Given the description of an element on the screen output the (x, y) to click on. 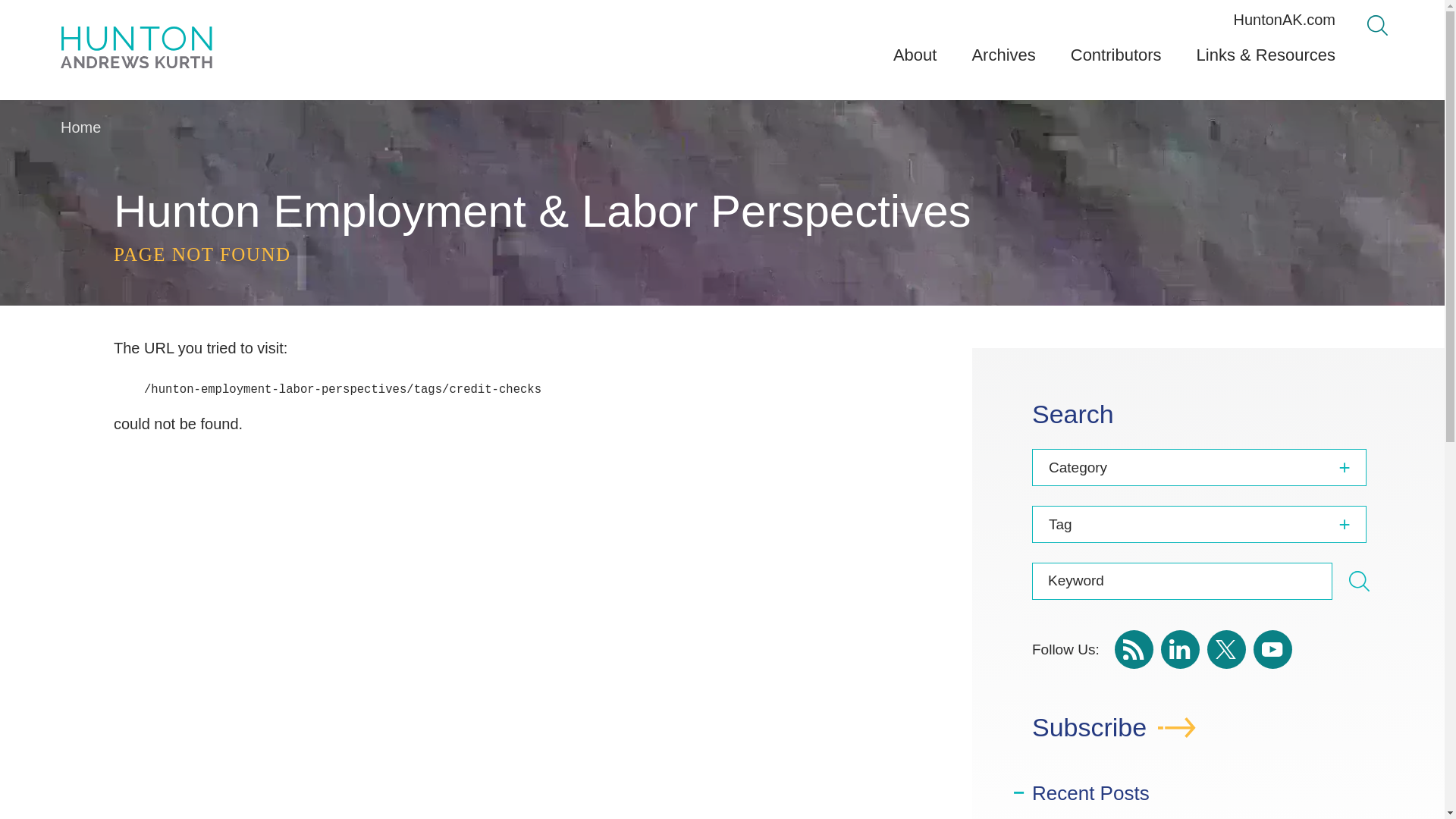
Search (1358, 584)
About (915, 60)
Main Content (674, 17)
Home (80, 126)
Search (1359, 580)
X (1226, 649)
Archives (1002, 60)
Main Menu (680, 17)
Contributors (1115, 60)
Menu (680, 17)
Recent Posts (1091, 793)
HuntonAK.com (1284, 19)
Linkedin (1179, 649)
Subscribe (1208, 734)
Search (1377, 25)
